Given the description of an element on the screen output the (x, y) to click on. 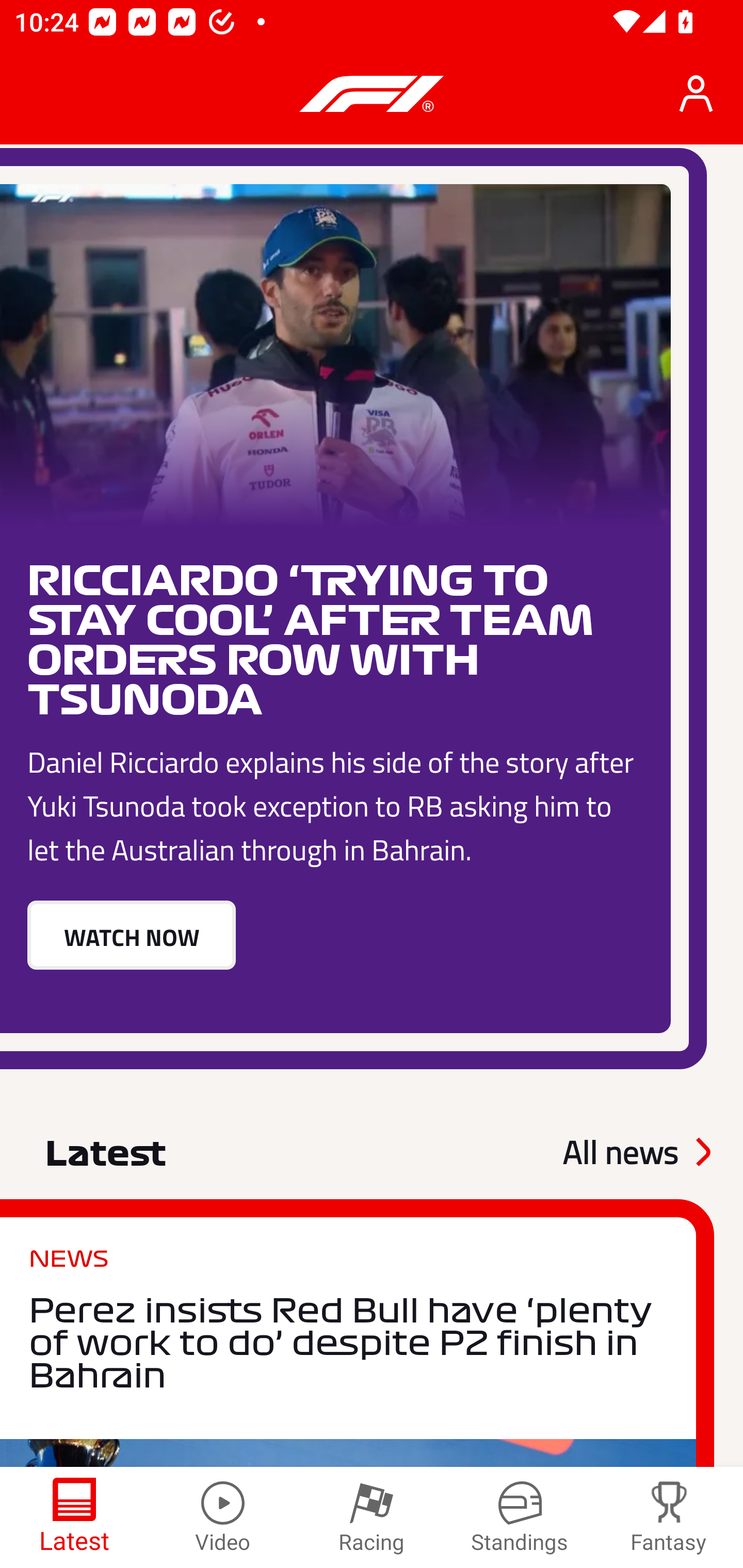
WATCH NOW (131, 934)
All news See all (635, 1152)
Video (222, 1517)
Racing (371, 1517)
Standings (519, 1517)
Fantasy (668, 1517)
